Given the description of an element on the screen output the (x, y) to click on. 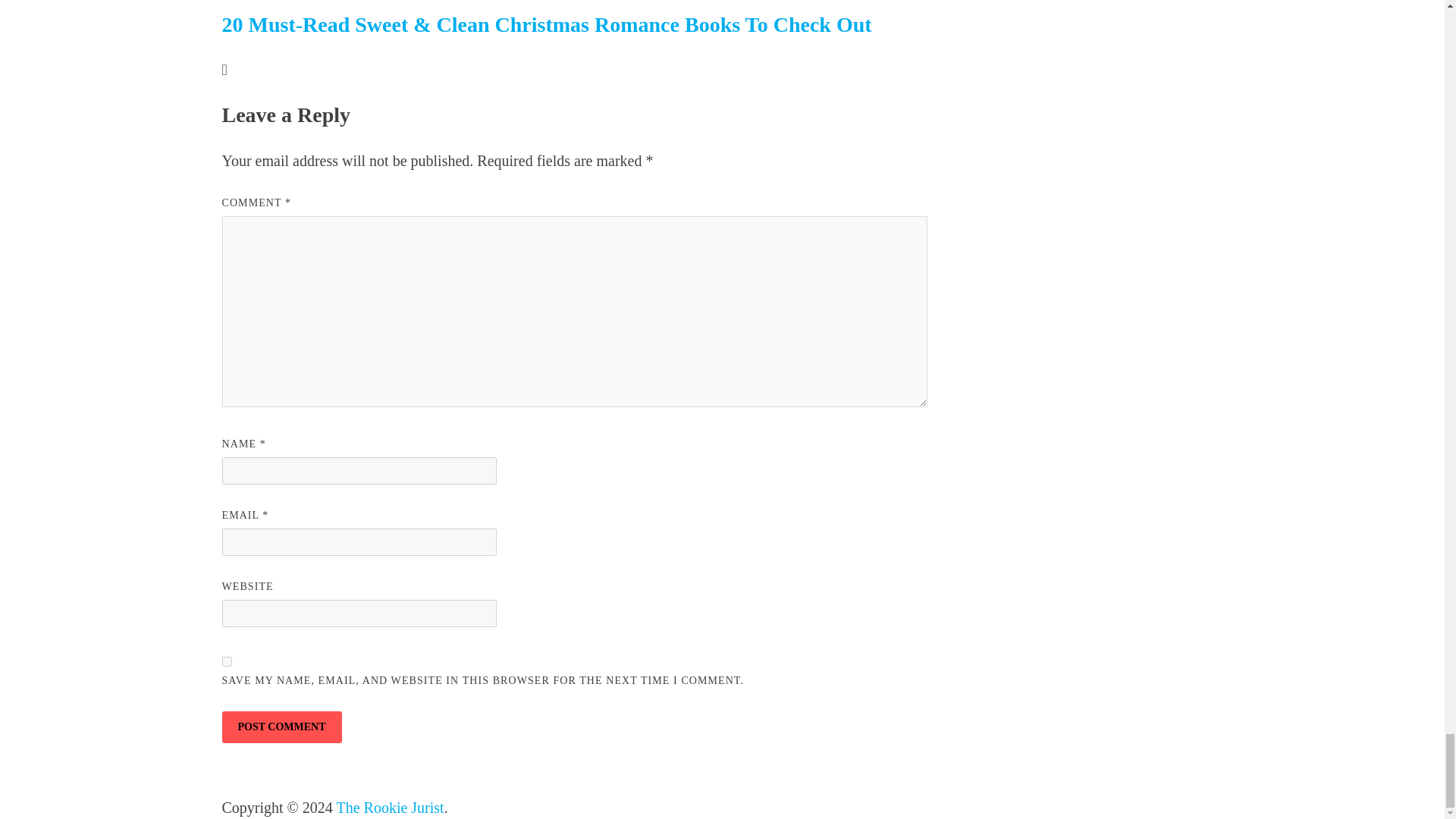
Post Comment (280, 726)
yes (226, 661)
